Given the description of an element on the screen output the (x, y) to click on. 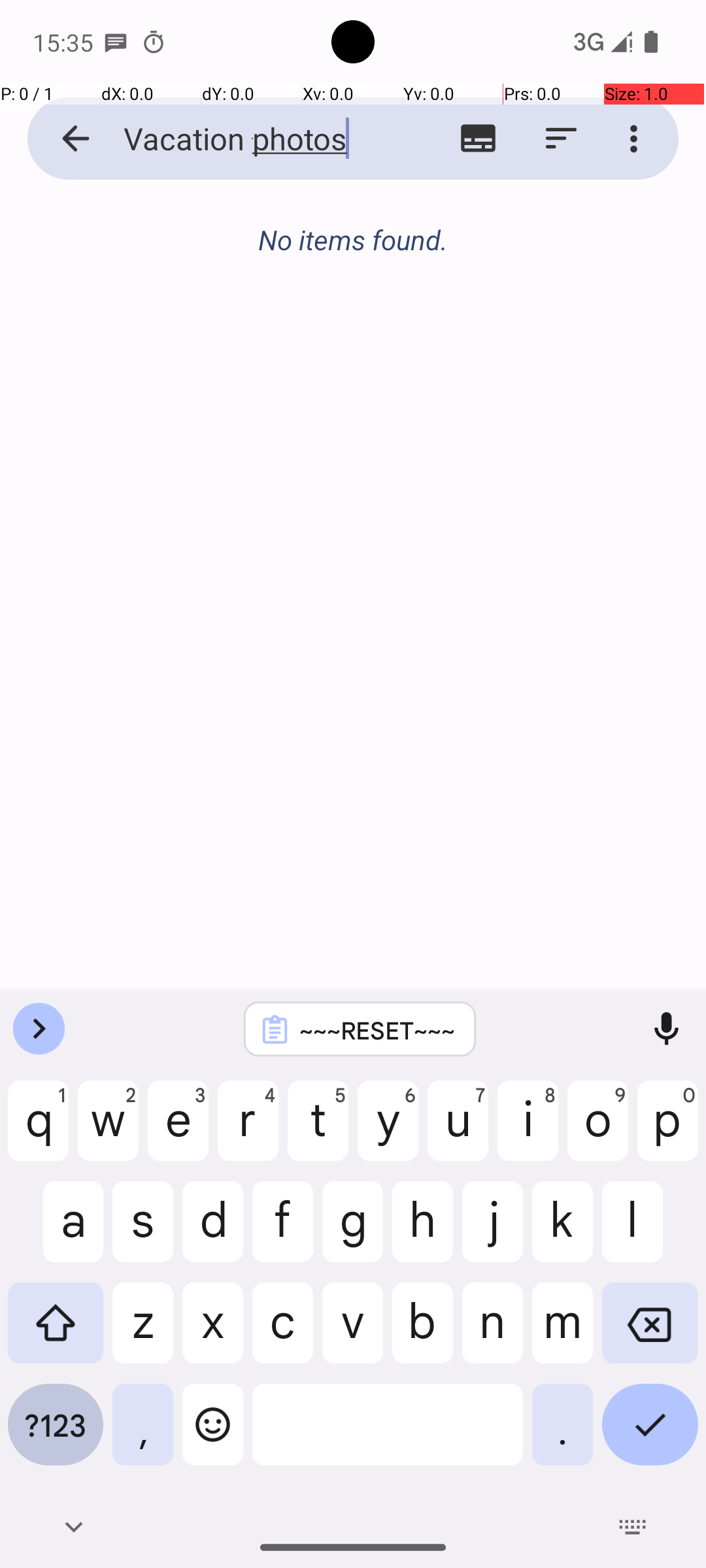
Vacation photos Element type: android.widget.EditText (252, 138)
